Given the description of an element on the screen output the (x, y) to click on. 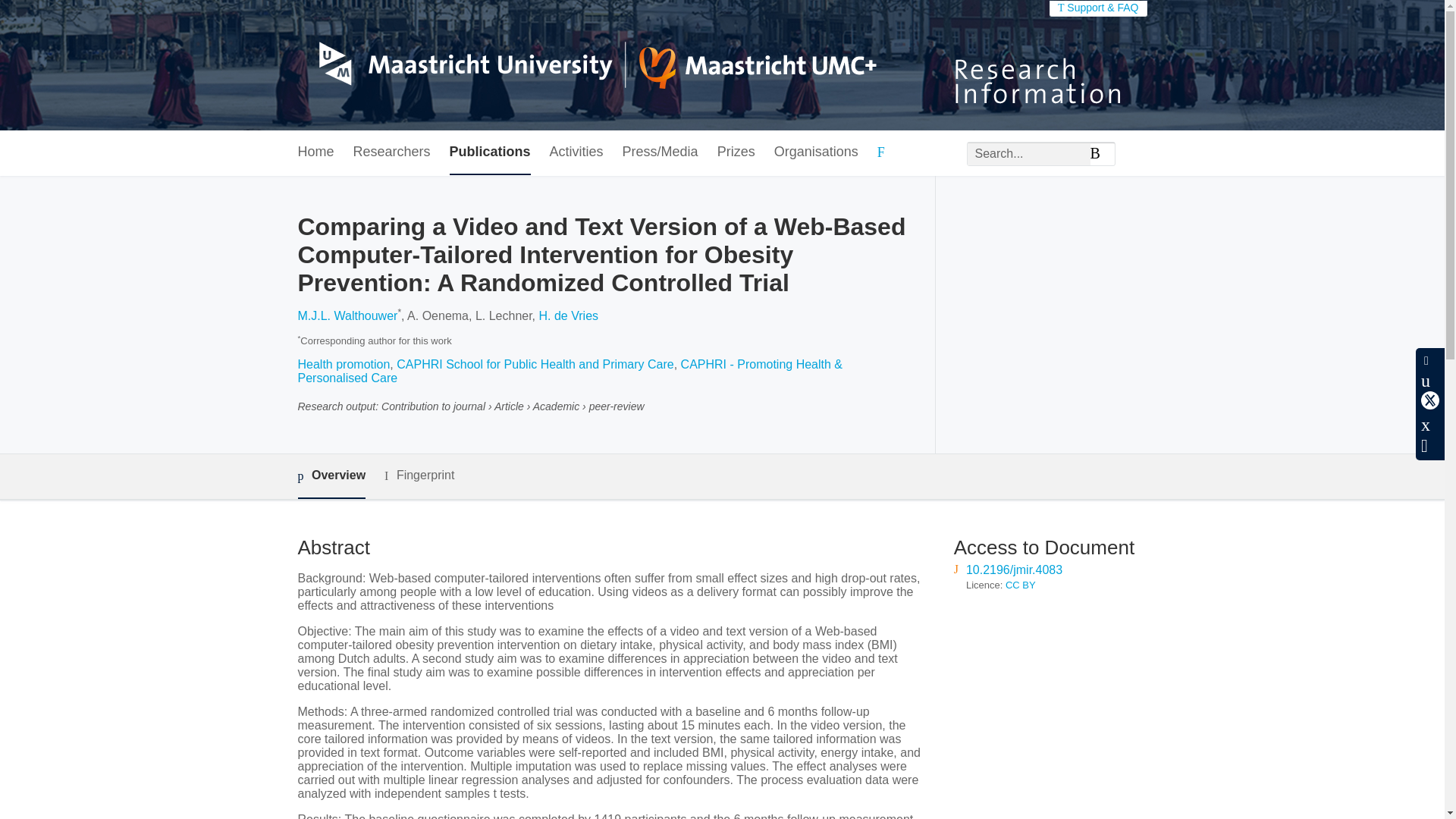
Publications (490, 152)
Activities (577, 152)
M.J.L. Walthouwer (347, 315)
Organisations (816, 152)
Maastricht University Home (586, 64)
Health promotion (343, 364)
CAPHRI School for Public Health and Primary Care (534, 364)
Overview (331, 476)
H. de Vries (568, 315)
